Given the description of an element on the screen output the (x, y) to click on. 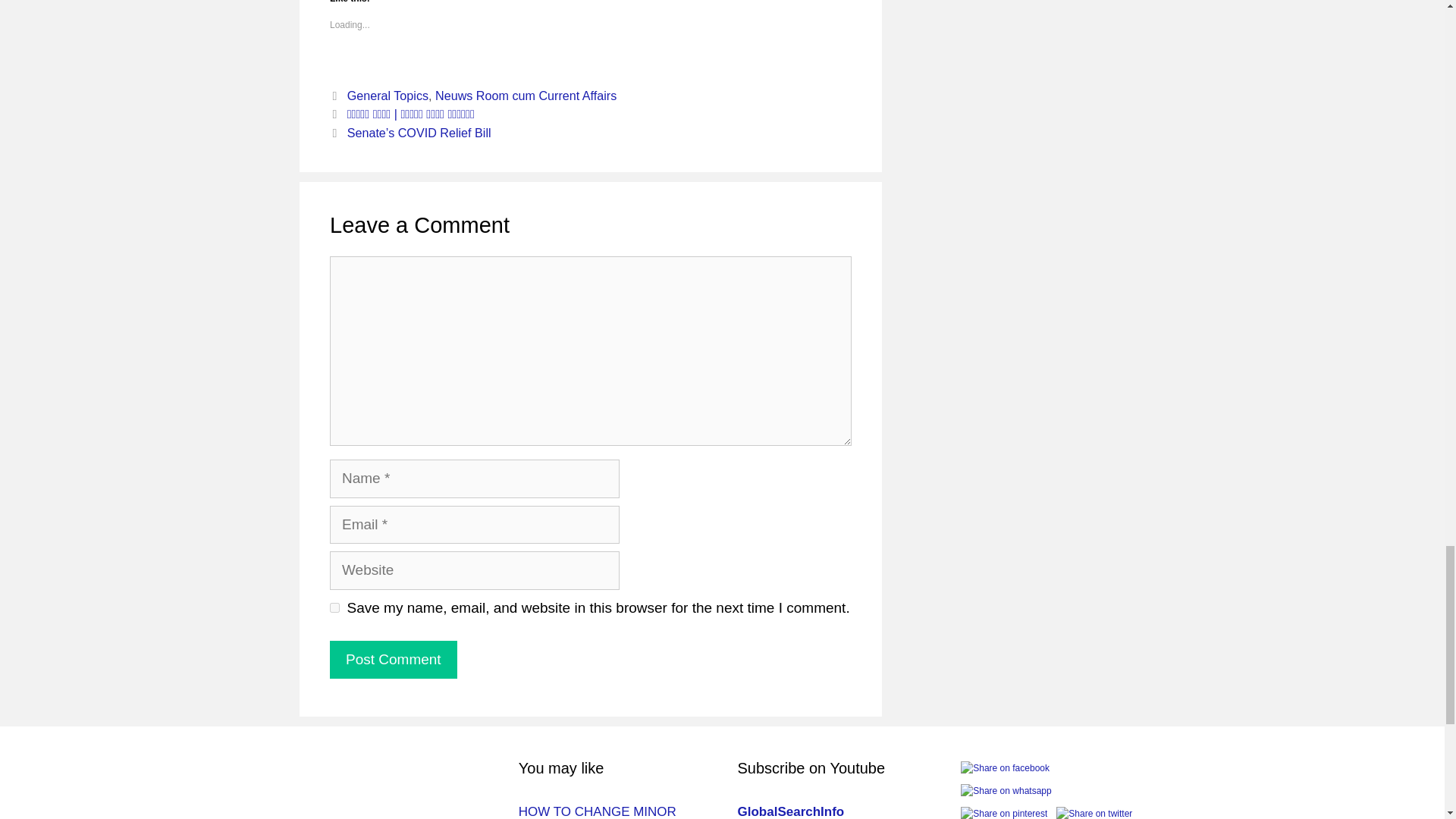
General Topics (387, 95)
yes (334, 607)
Neuws Room cum Current Affairs (525, 95)
Post Comment (393, 659)
whatsapp (1005, 790)
facebook (1005, 767)
